Given the description of an element on the screen output the (x, y) to click on. 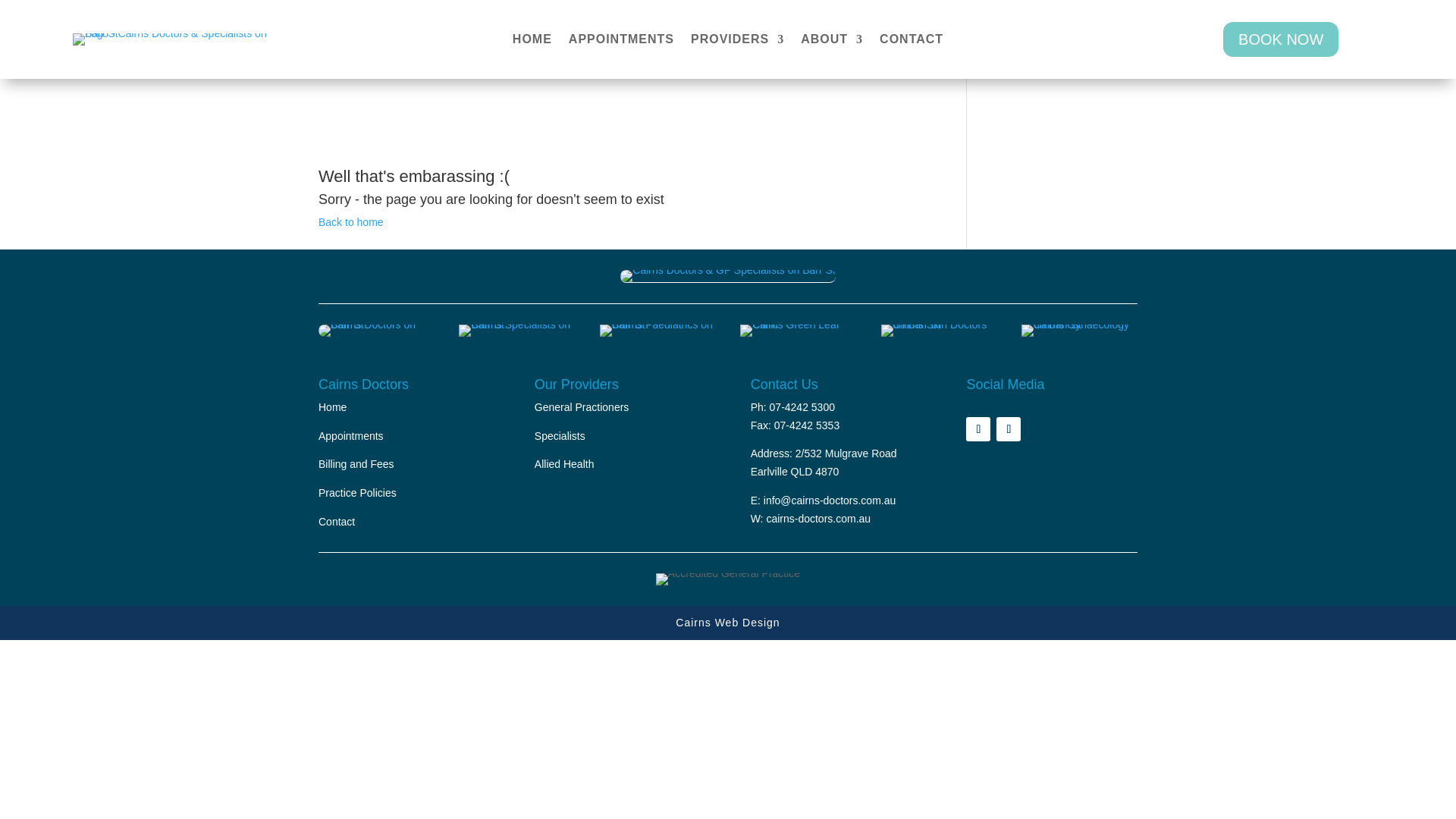
Allied Health (564, 463)
Practice Policies (357, 492)
i-agpal-accredited-practice-01 (727, 579)
BOOK NOW (1280, 39)
Logo-Cairns-Doctors-02 (727, 275)
CONTACT (911, 42)
logo-btm-cairns-gynaecologists (1079, 330)
Back to home (351, 222)
logo-btm-cairns-skin-doctors (938, 330)
Follow on Facebook (978, 428)
General Practioners (581, 407)
PROVIDERS (737, 42)
Follow on Instagram (1007, 428)
logo-btm-cairns-green-leaf-clinic (797, 330)
logo-btm-cairns-doctors (375, 330)
